Given the description of an element on the screen output the (x, y) to click on. 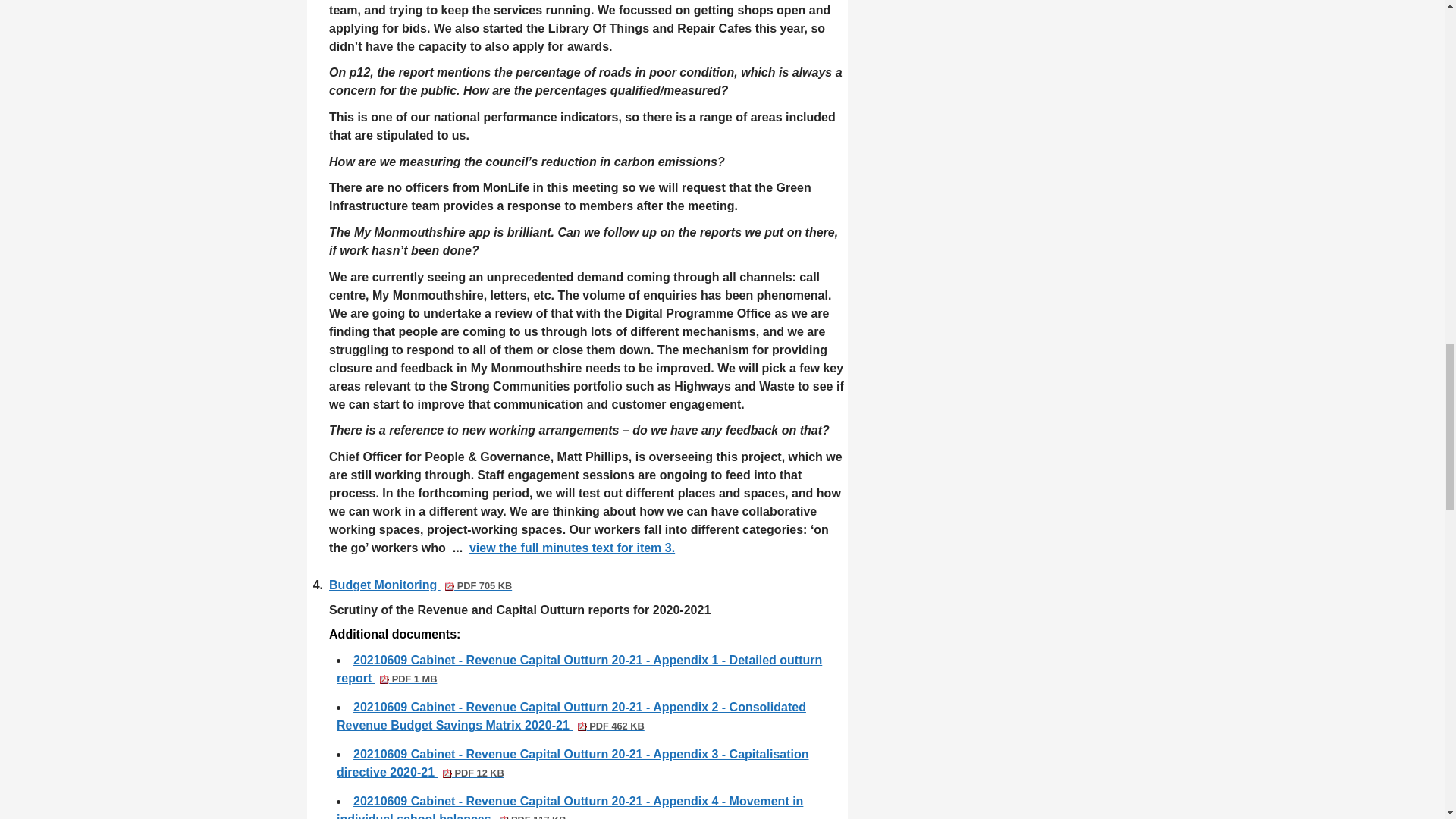
view the full minutes text for item 3. (571, 547)
Budget Monitoring PDF 705 KB (420, 584)
